Given the description of an element on the screen output the (x, y) to click on. 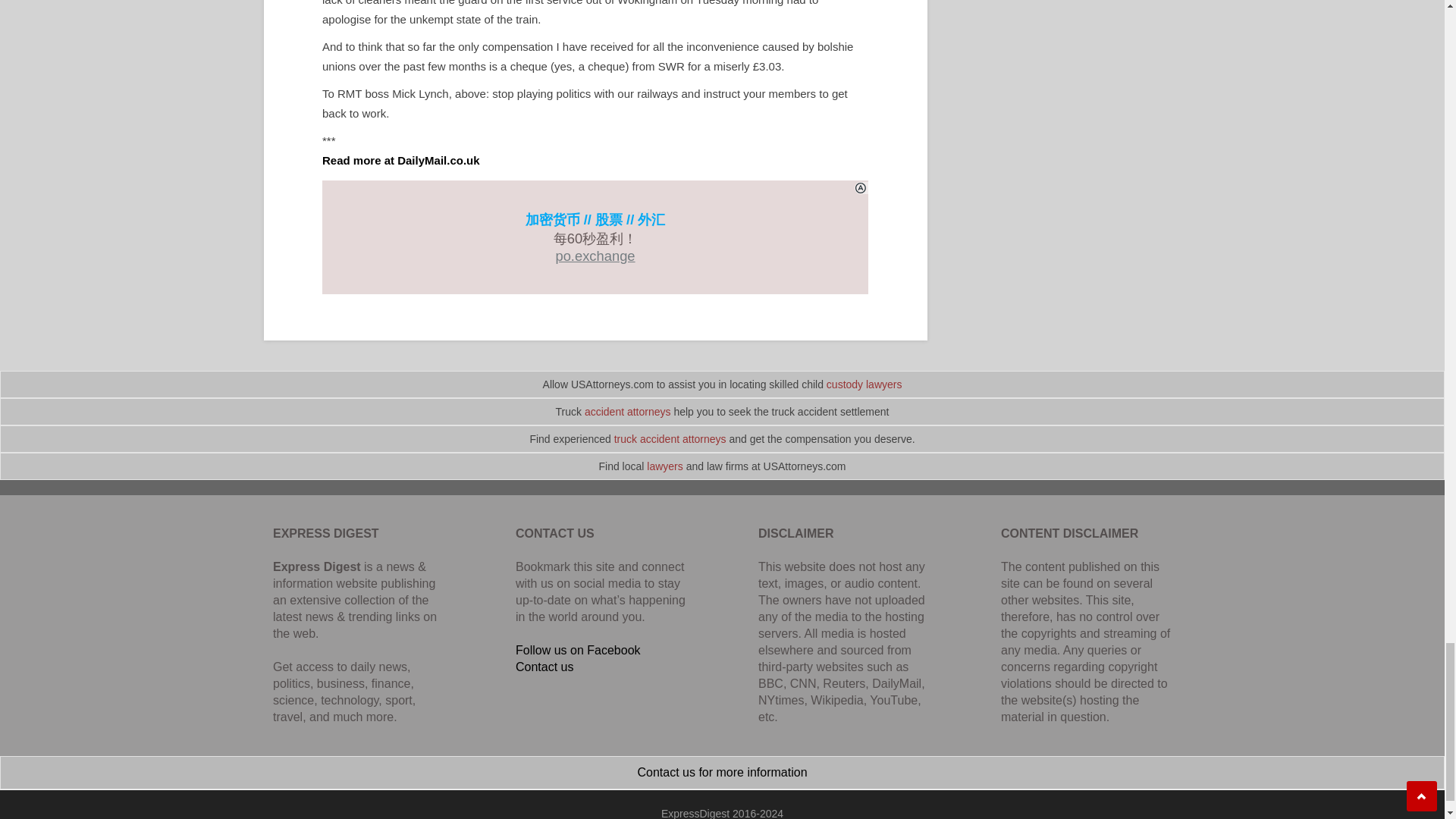
lawyers (664, 466)
Read more at DailyMail.co.uk (400, 160)
custody lawyers (864, 384)
truck accident attorneys (670, 439)
accident attorneys (628, 411)
